Given the description of an element on the screen output the (x, y) to click on. 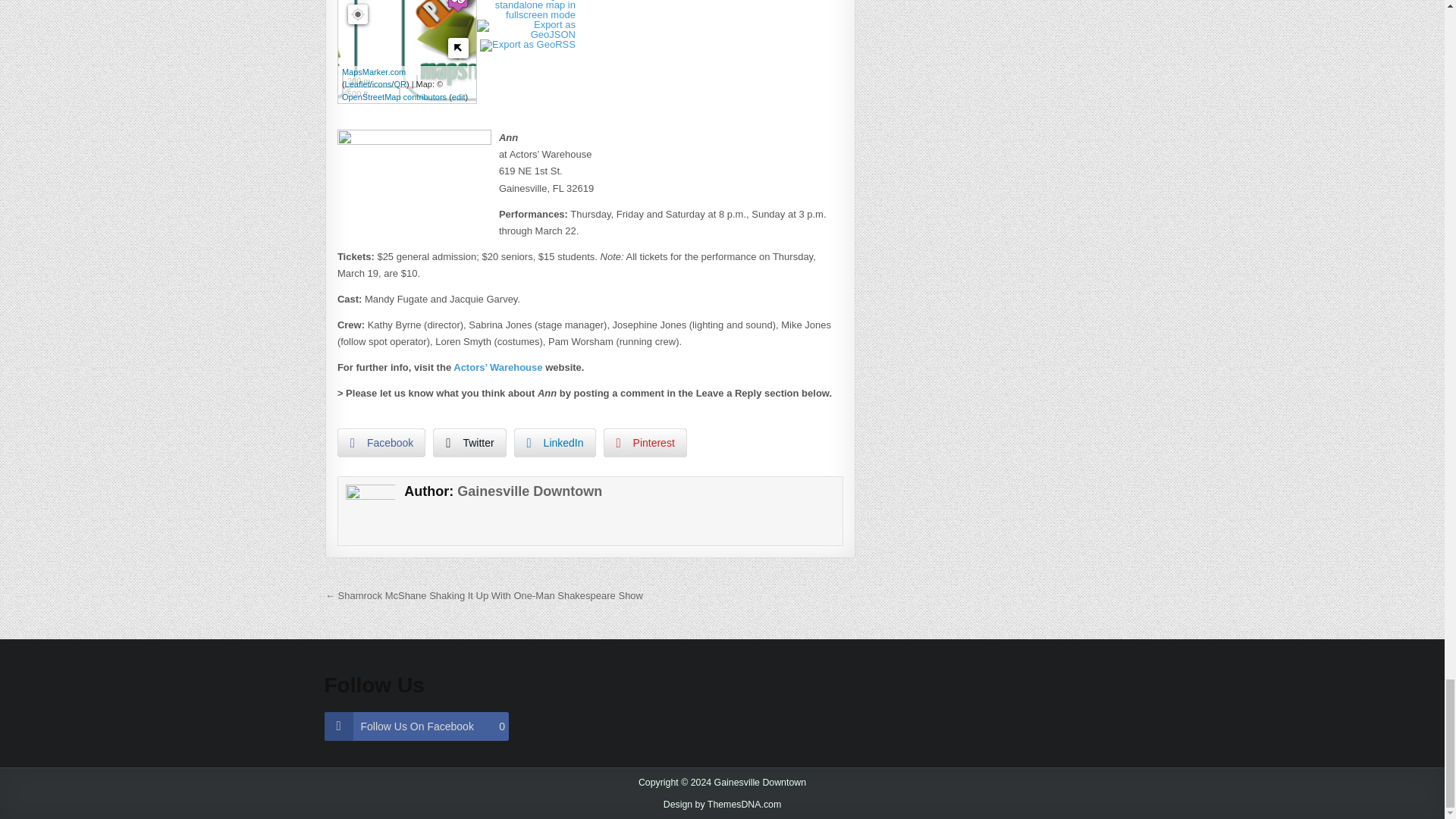
MapsMarker.com (374, 71)
QR (399, 83)
icons (381, 83)
Show me where I am (357, 14)
Leaflet (357, 83)
Export as GeoRSS (529, 43)
Create QR code image for standalone map in fullscreen mode (528, 14)
OpenStreetMap contributors (394, 96)
Actors' Warehouse (457, 6)
Export as GeoJSON (528, 34)
